Given the description of an element on the screen output the (x, y) to click on. 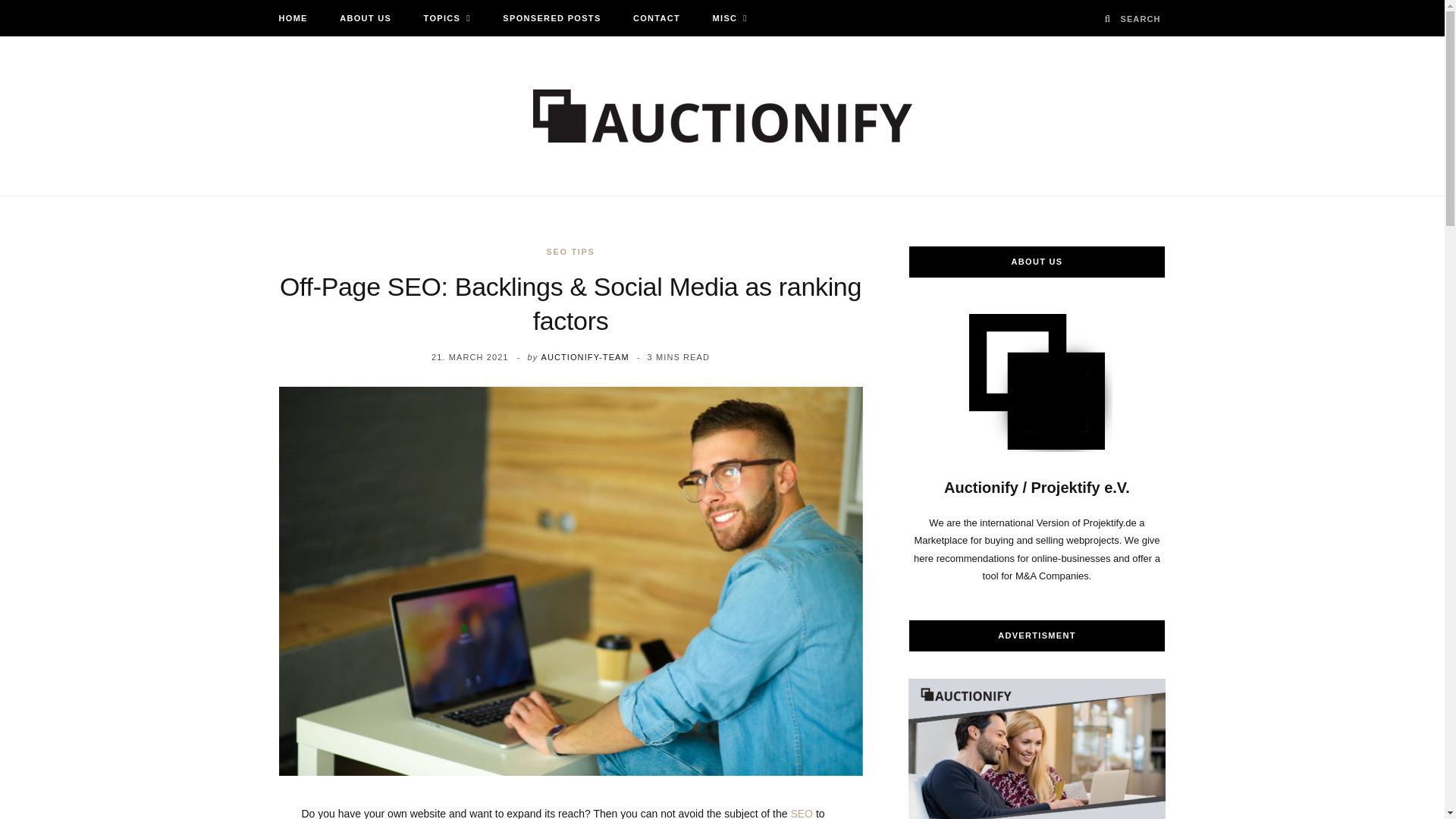
CONTACT (656, 18)
HOME (292, 18)
Posts by Auctionify-Team (584, 356)
MISC (729, 18)
SPONSERED POSTS (550, 18)
ABOUT US (365, 18)
TOPICS (446, 18)
auctionify.org (721, 115)
